Given the description of an element on the screen output the (x, y) to click on. 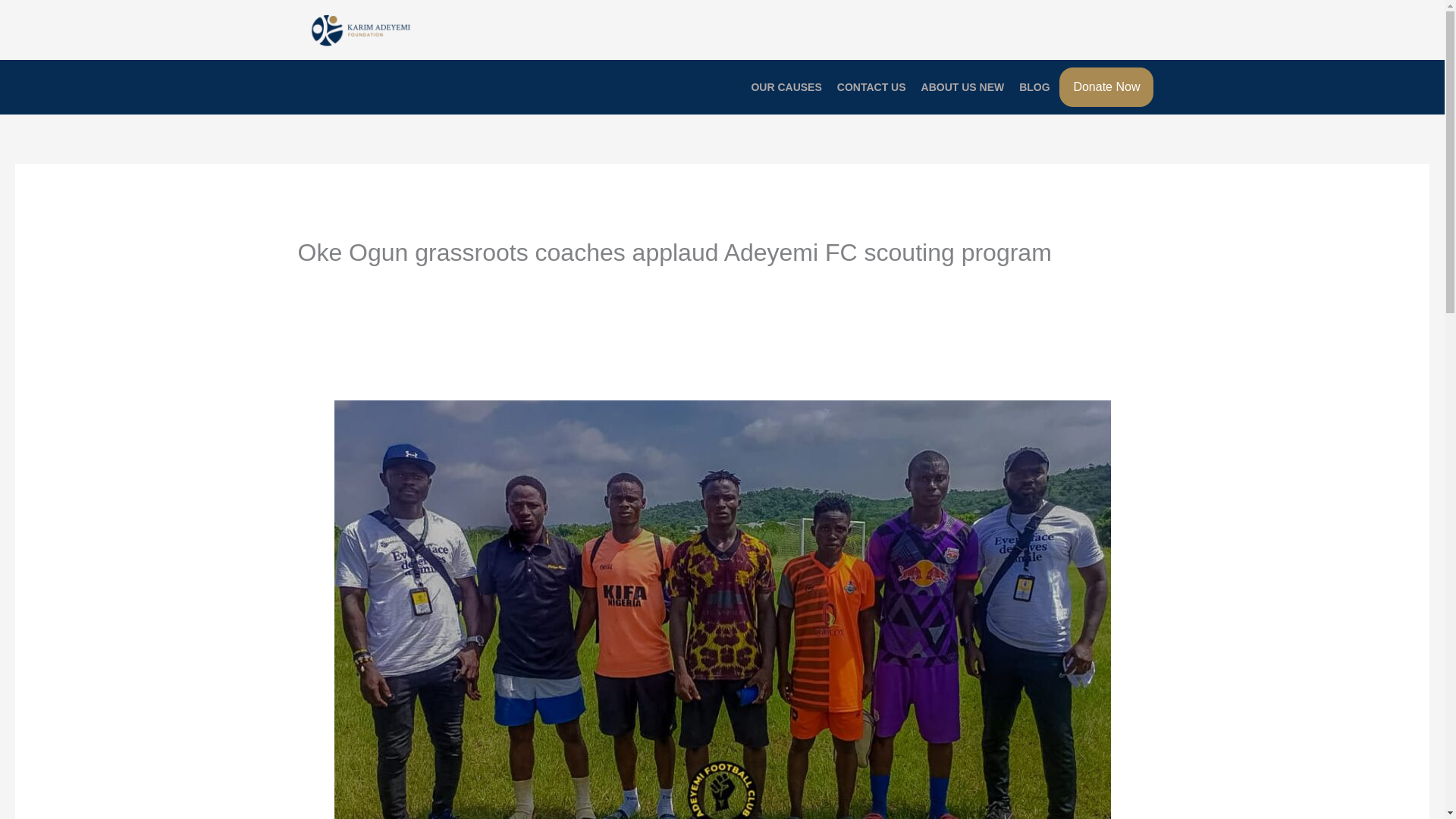
CONTACT US (871, 86)
ABOUT US NEW (962, 86)
OUR CAUSES (786, 86)
